Given the description of an element on the screen output the (x, y) to click on. 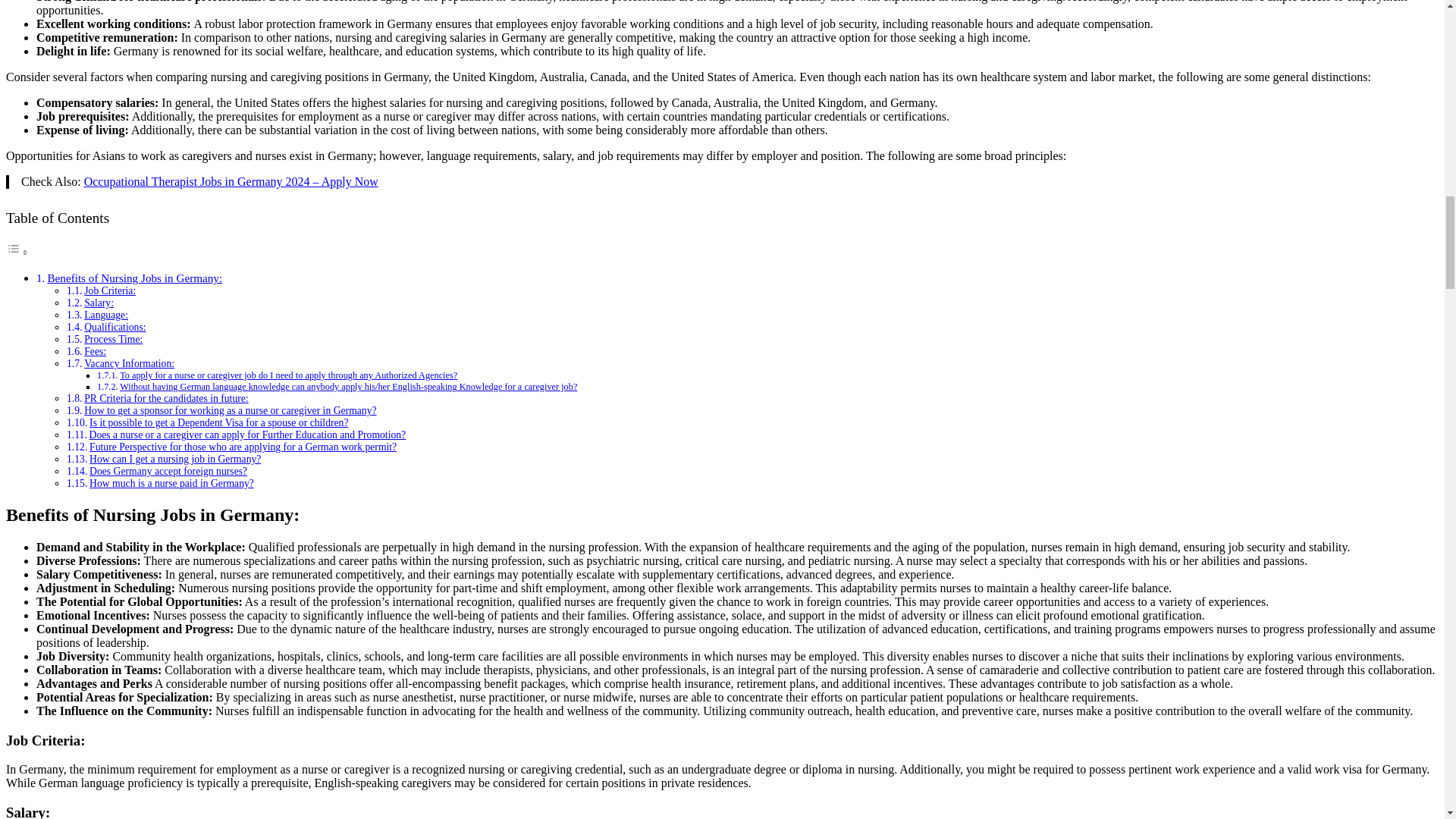
Salary: (98, 302)
Fees: (95, 351)
Vacancy Information: (129, 363)
Salary: (98, 302)
Fees: (95, 351)
Process Time: (113, 338)
How can I get a nursing job in Germany? (174, 459)
How much is a nurse paid in Germany? (170, 482)
PR Criteria for the candidates in future: (165, 398)
Qualifications: (114, 326)
Vacancy Information: (129, 363)
Does Germany accept foreign nurses? (167, 471)
